Given the description of an element on the screen output the (x, y) to click on. 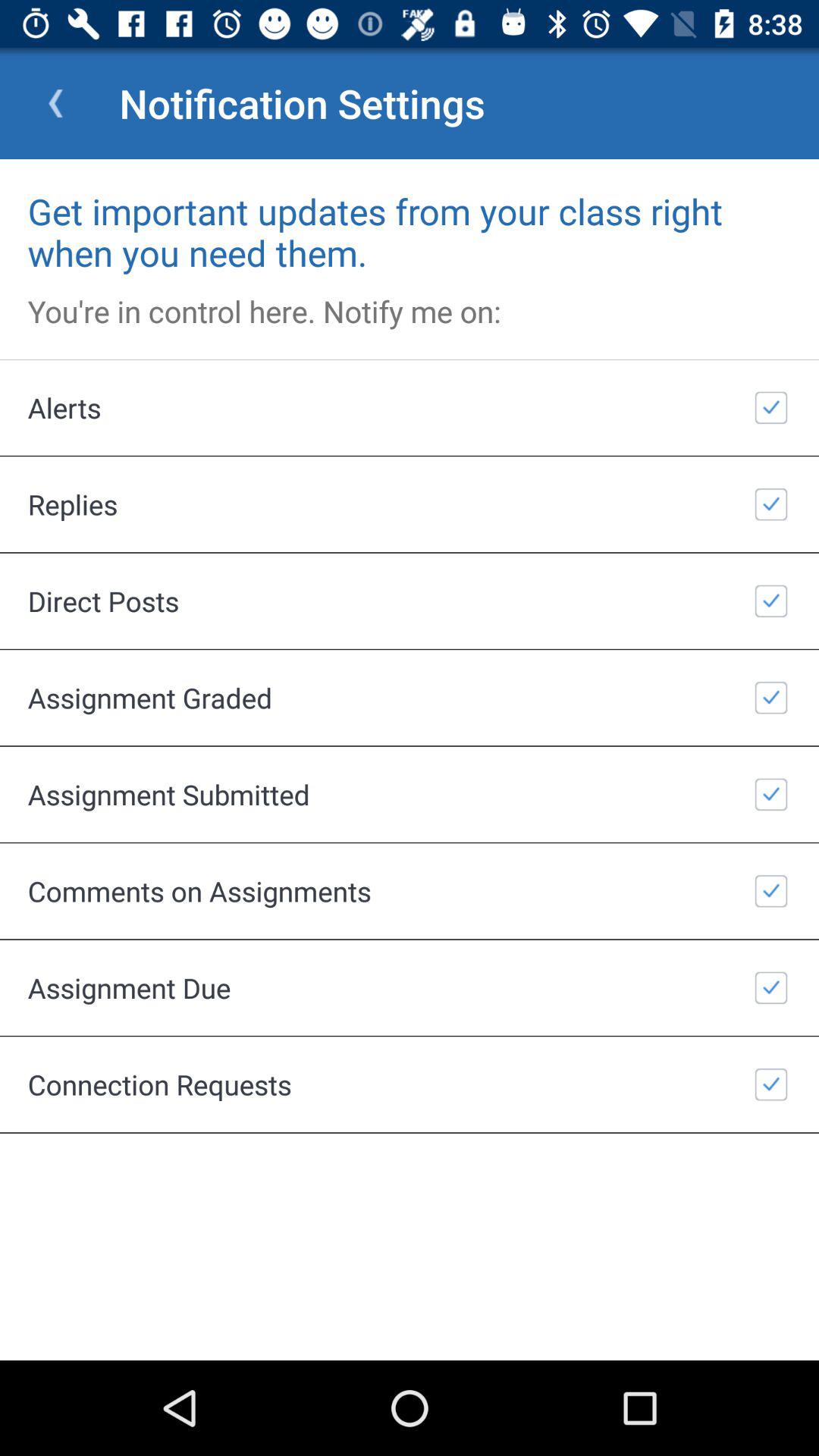
press the icon above replies (409, 407)
